Given the description of an element on the screen output the (x, y) to click on. 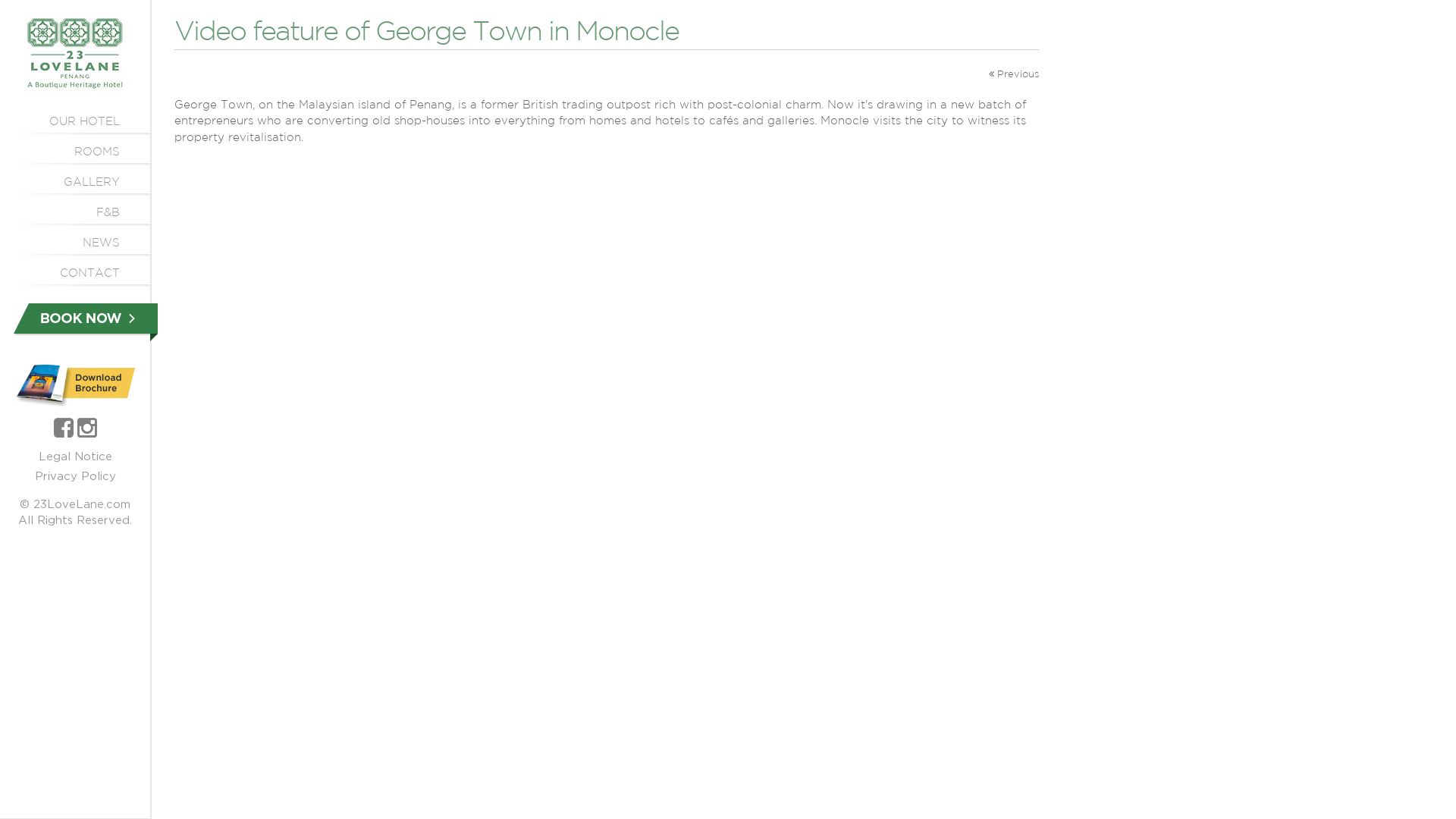
CONTACT Element type: text (75, 272)
Privacy Policy Element type: text (75, 476)
GALLERY Element type: text (75, 181)
OUR HOTEL Element type: text (75, 121)
F&B Element type: text (75, 212)
Previous Element type: text (1013, 73)
ROOMS Element type: text (75, 151)
Book Now Element type: text (85, 322)
NEWS Element type: text (75, 242)
Legal Notice Element type: text (74, 456)
